Given the description of an element on the screen output the (x, y) to click on. 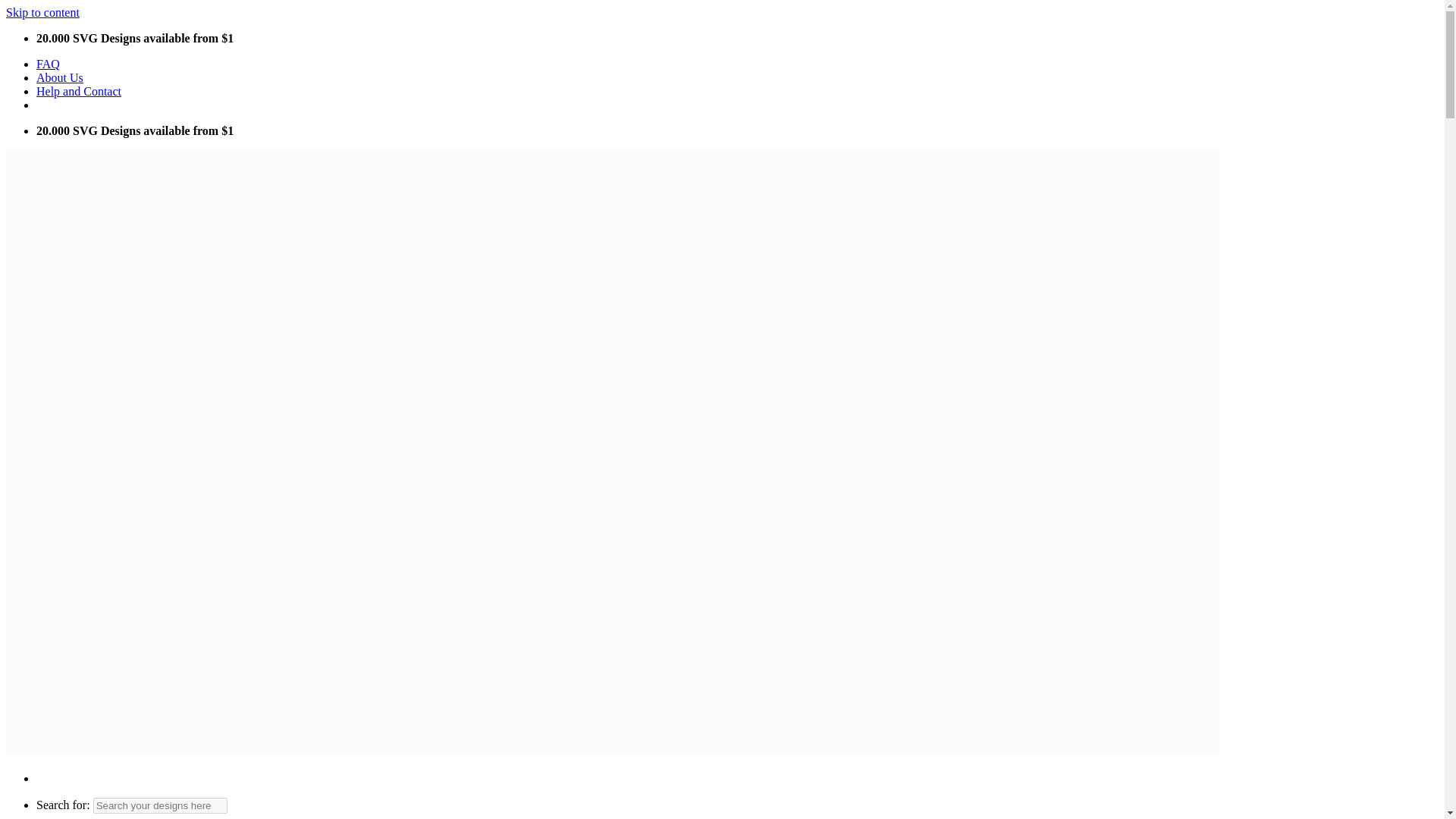
About Us (59, 77)
FAQ (47, 63)
Skip to content (42, 11)
Help and Contact (78, 91)
